Given the description of an element on the screen output the (x, y) to click on. 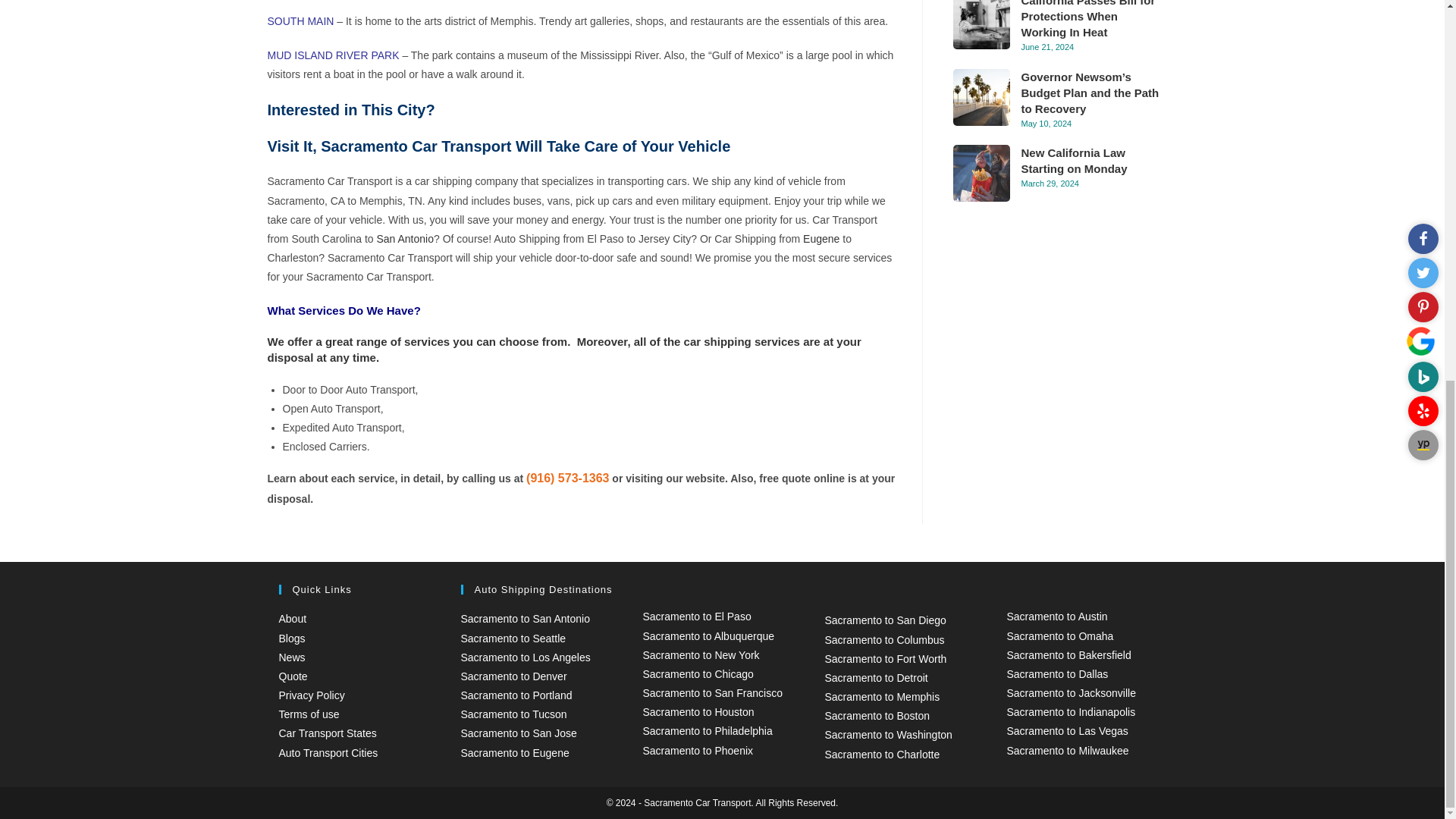
San Antonio (404, 238)
California Passes Bill for Protections When Working In Heat (980, 24)
New California Law Starting on Monday (980, 172)
Eugene (821, 238)
